Given the description of an element on the screen output the (x, y) to click on. 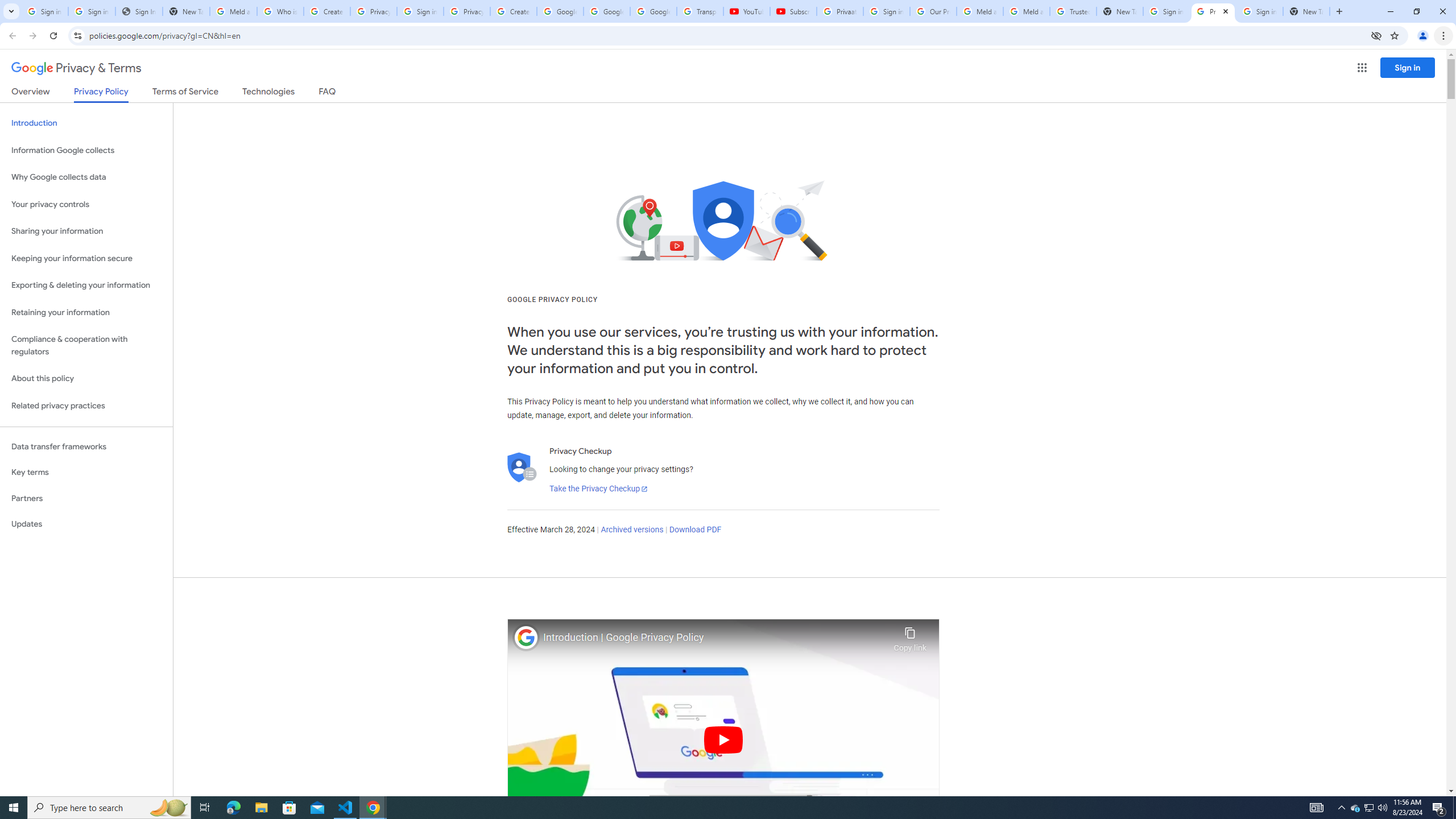
Photo image of Google (526, 636)
Exporting & deleting your information (86, 284)
Copy link (909, 636)
Sign in - Google Accounts (886, 11)
Archived versions (631, 529)
Data transfer frameworks (86, 446)
Introduction | Google Privacy Policy (715, 637)
Related privacy practices (86, 405)
